Given the description of an element on the screen output the (x, y) to click on. 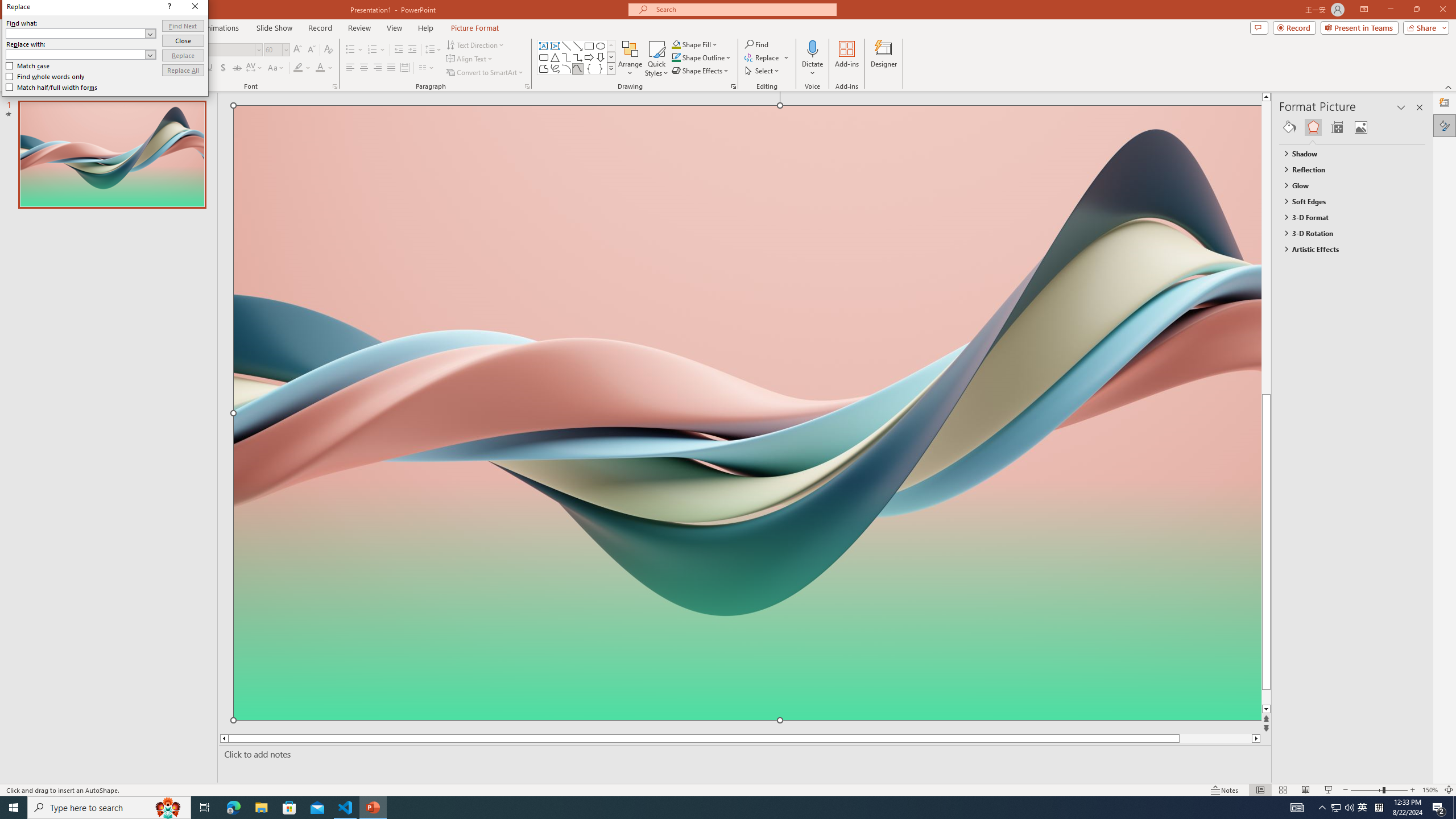
Picture Format (475, 28)
Reflection (1347, 169)
